Given the description of an element on the screen output the (x, y) to click on. 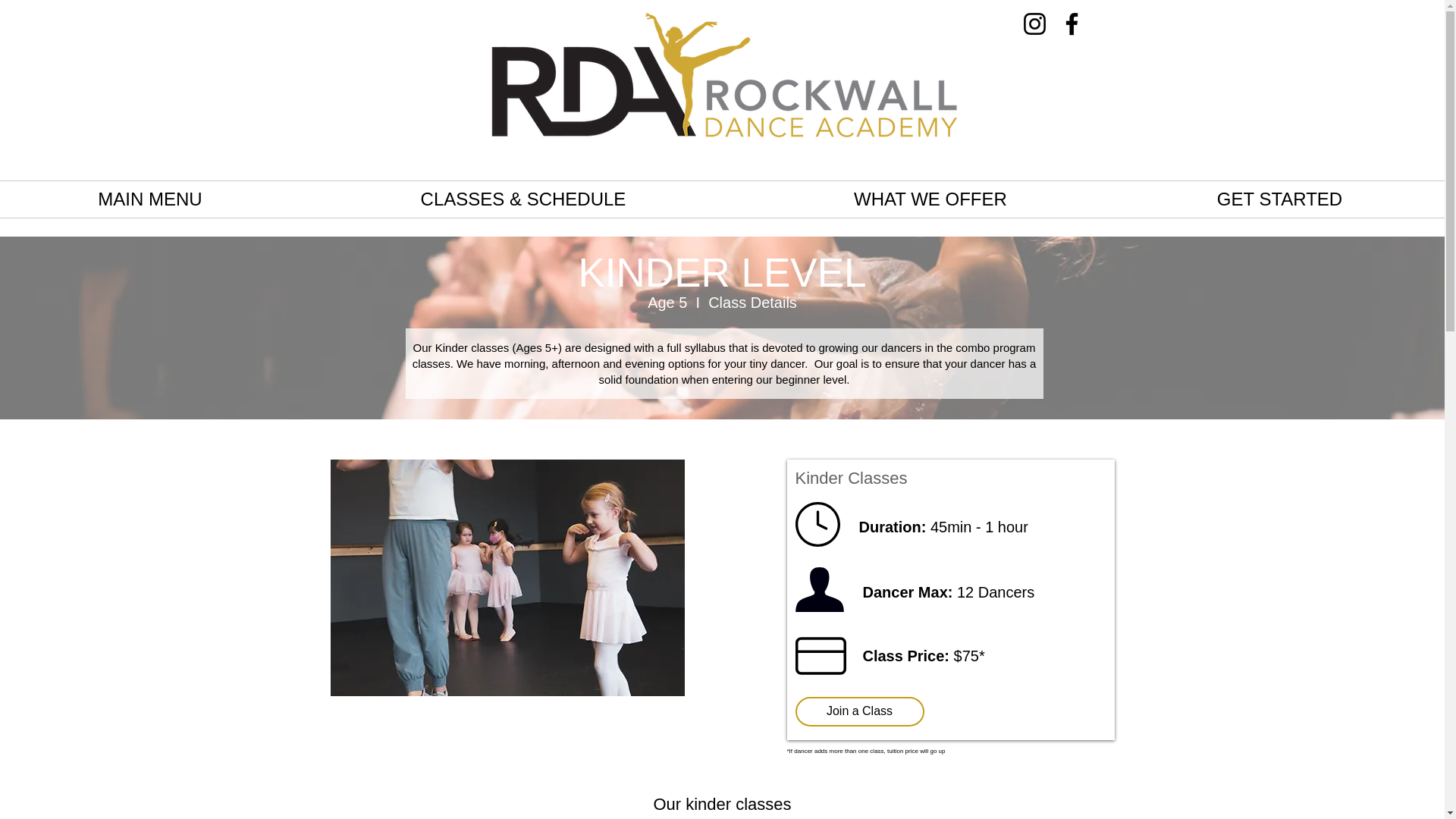
Join a Class (858, 711)
MAIN MENU (149, 198)
WHAT WE OFFER (930, 198)
